Given the description of an element on the screen output the (x, y) to click on. 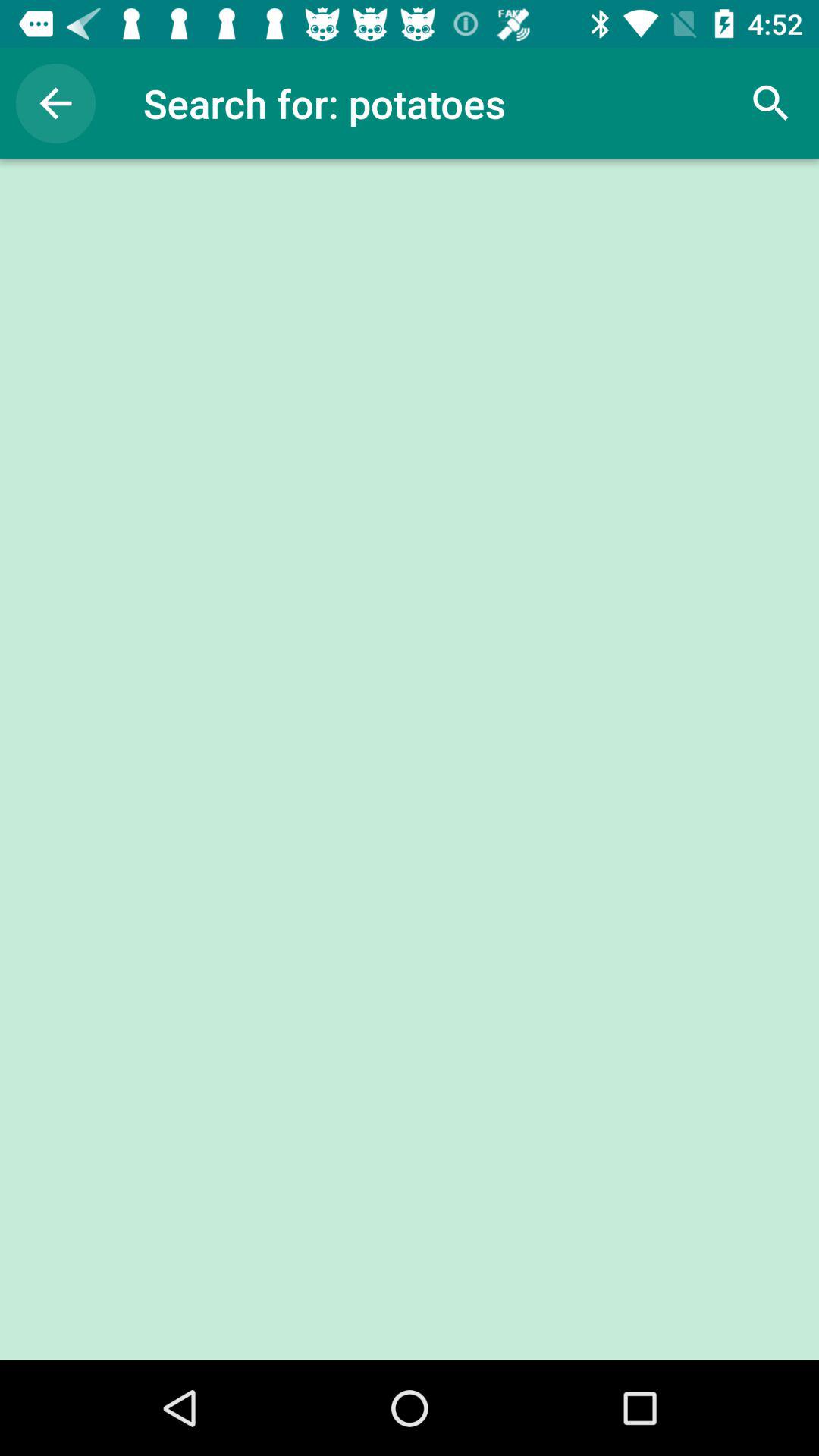
launch the icon at the top left corner (55, 103)
